Given the description of an element on the screen output the (x, y) to click on. 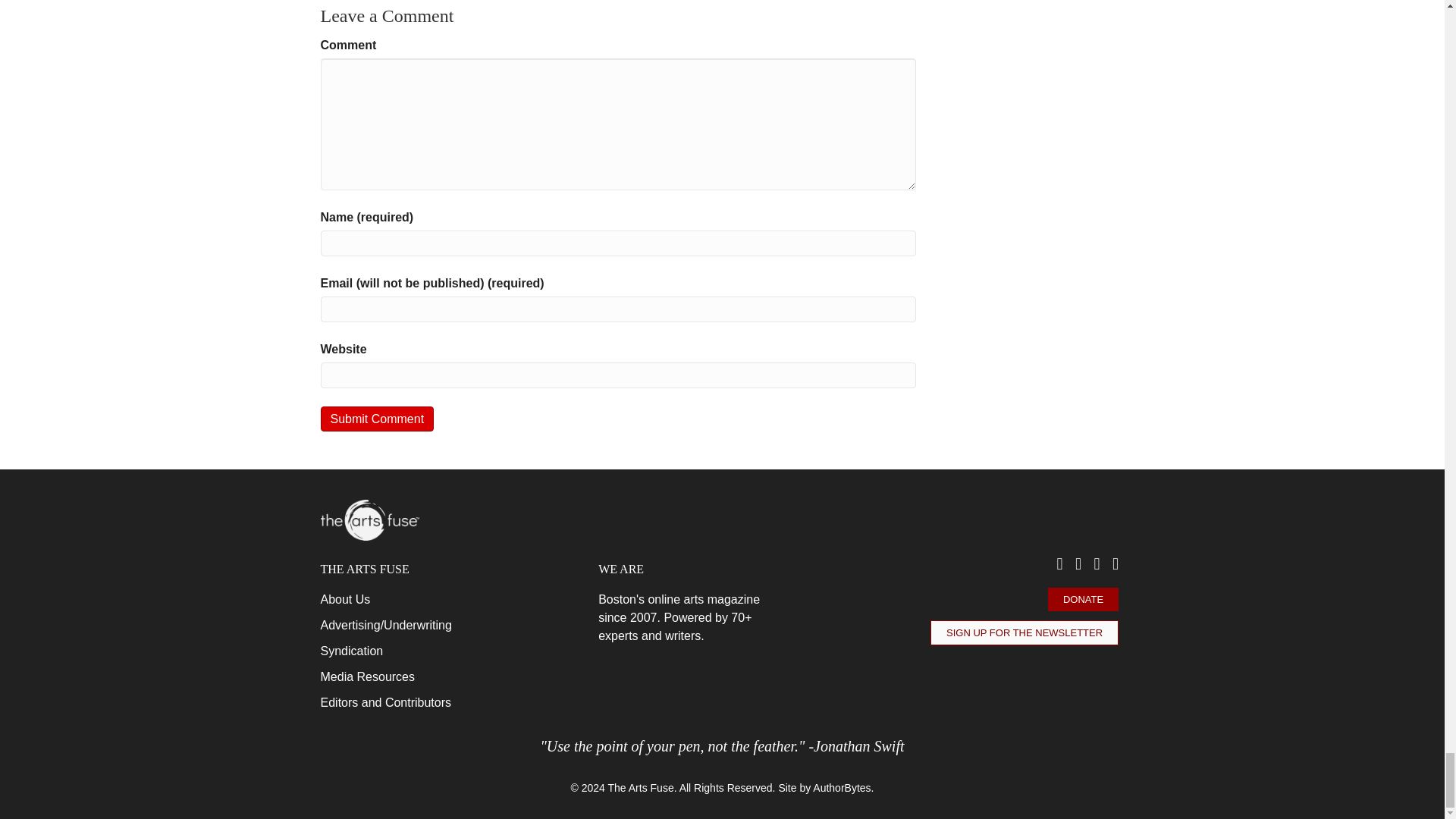
Submit Comment (376, 418)
